Given the description of an element on the screen output the (x, y) to click on. 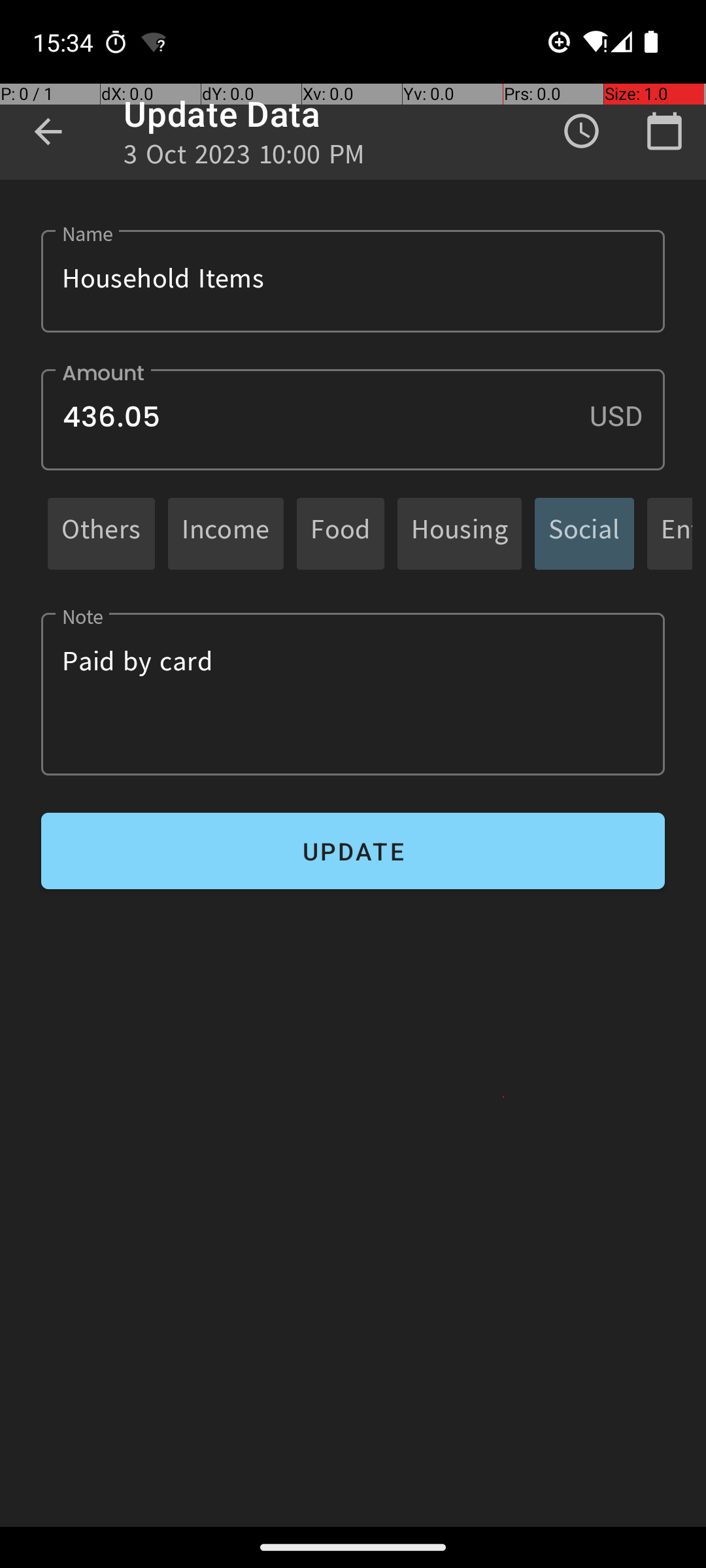
3 Oct 2023 10:00 PM Element type: android.widget.TextView (244, 157)
Household Items Element type: android.widget.EditText (352, 280)
436.05 Element type: android.widget.EditText (352, 419)
Others Element type: android.widget.TextView (101, 533)
